Given the description of an element on the screen output the (x, y) to click on. 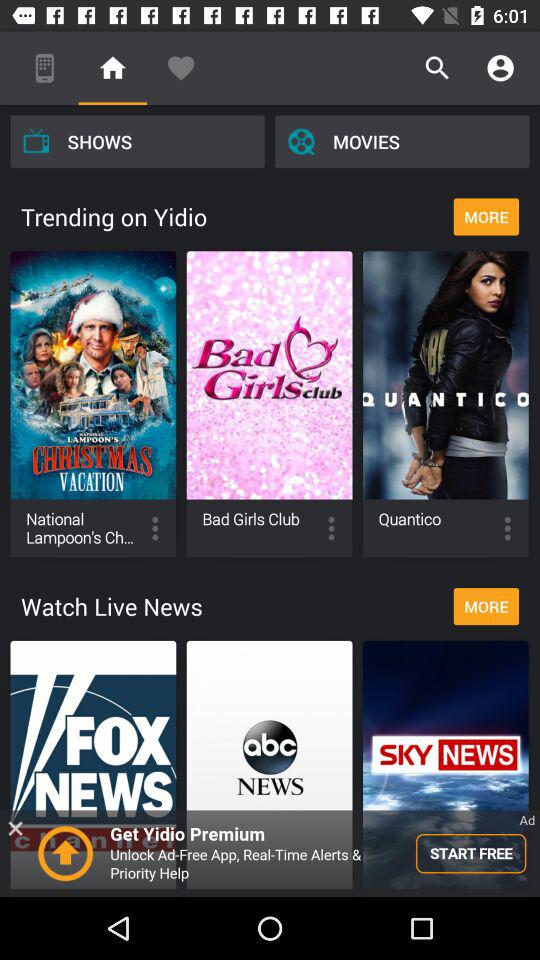
launch icon above the shows (180, 68)
